Given the description of an element on the screen output the (x, y) to click on. 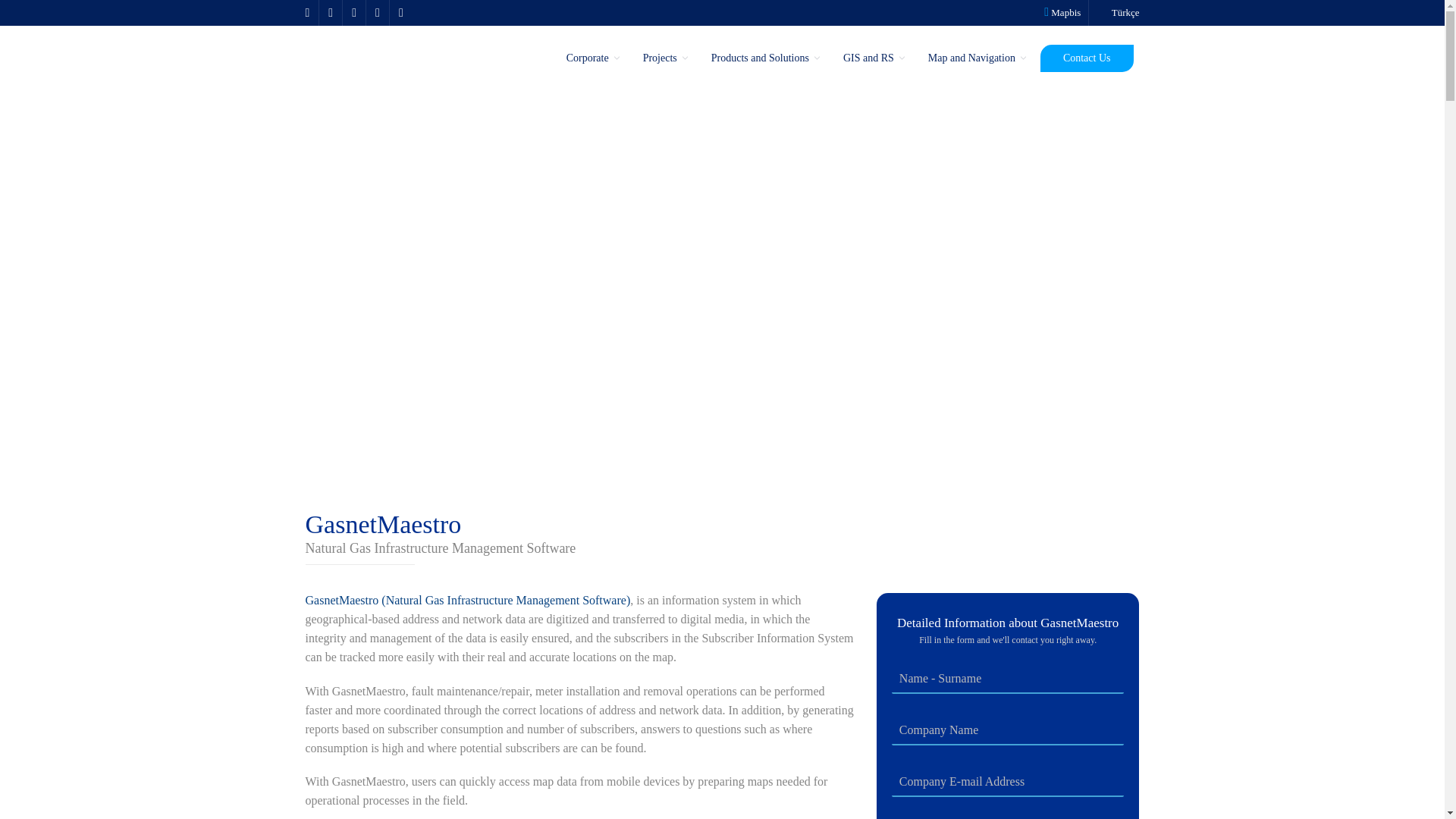
gasnetm-logo-updt (1007, 533)
 Mapbis (1061, 12)
Corporate (589, 57)
Projects (661, 57)
